Given the description of an element on the screen output the (x, y) to click on. 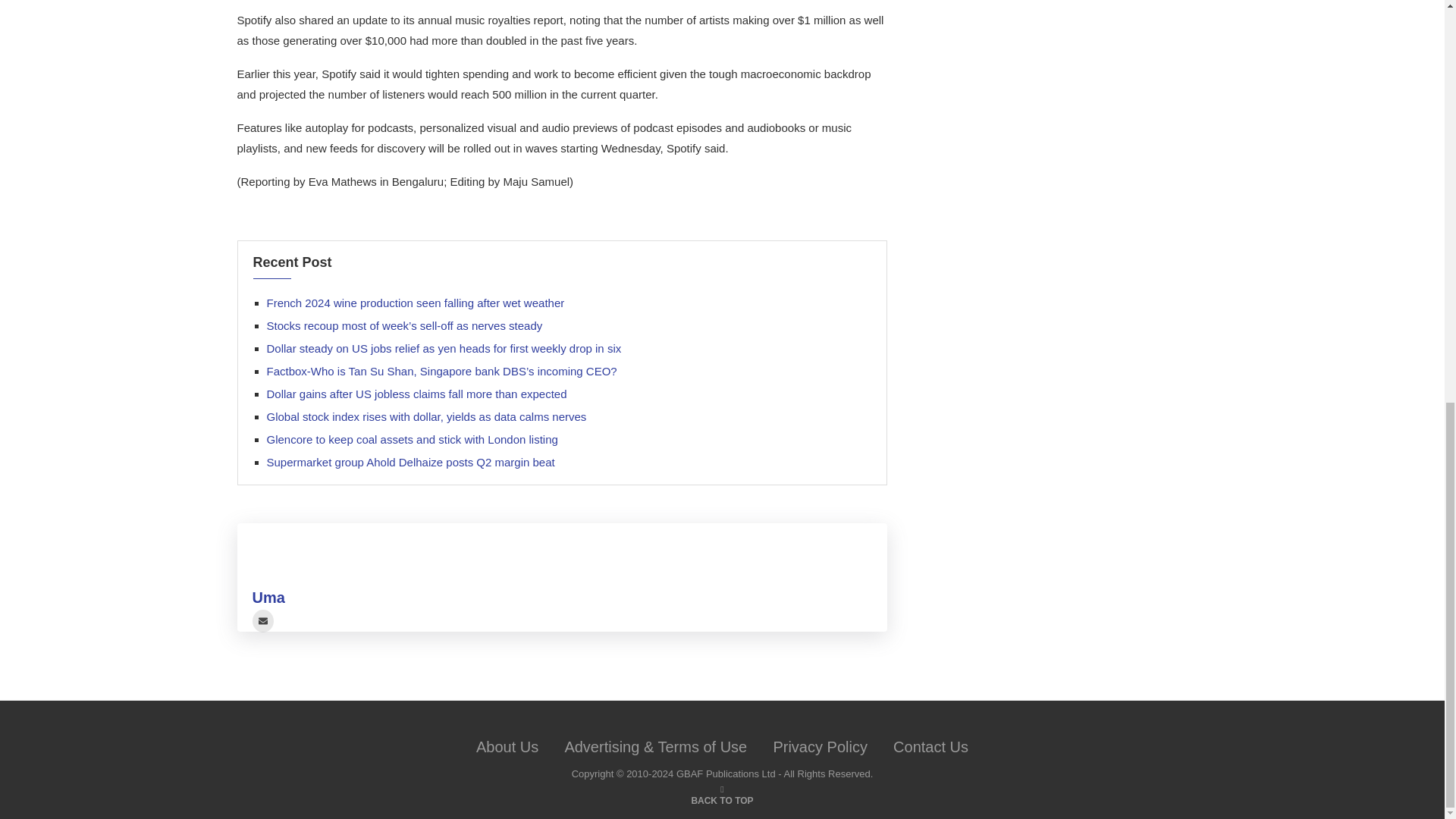
About Us (507, 746)
Privacy Policy (819, 746)
Supermarket group Ahold Delhaize posts Q2 margin beat (410, 461)
BACK TO TOP (721, 799)
Uma (267, 597)
Contact Us (930, 746)
Glencore to keep coal assets and stick with London listing (411, 439)
Dollar gains after US jobless claims fall more than expected (416, 393)
